Given the description of an element on the screen output the (x, y) to click on. 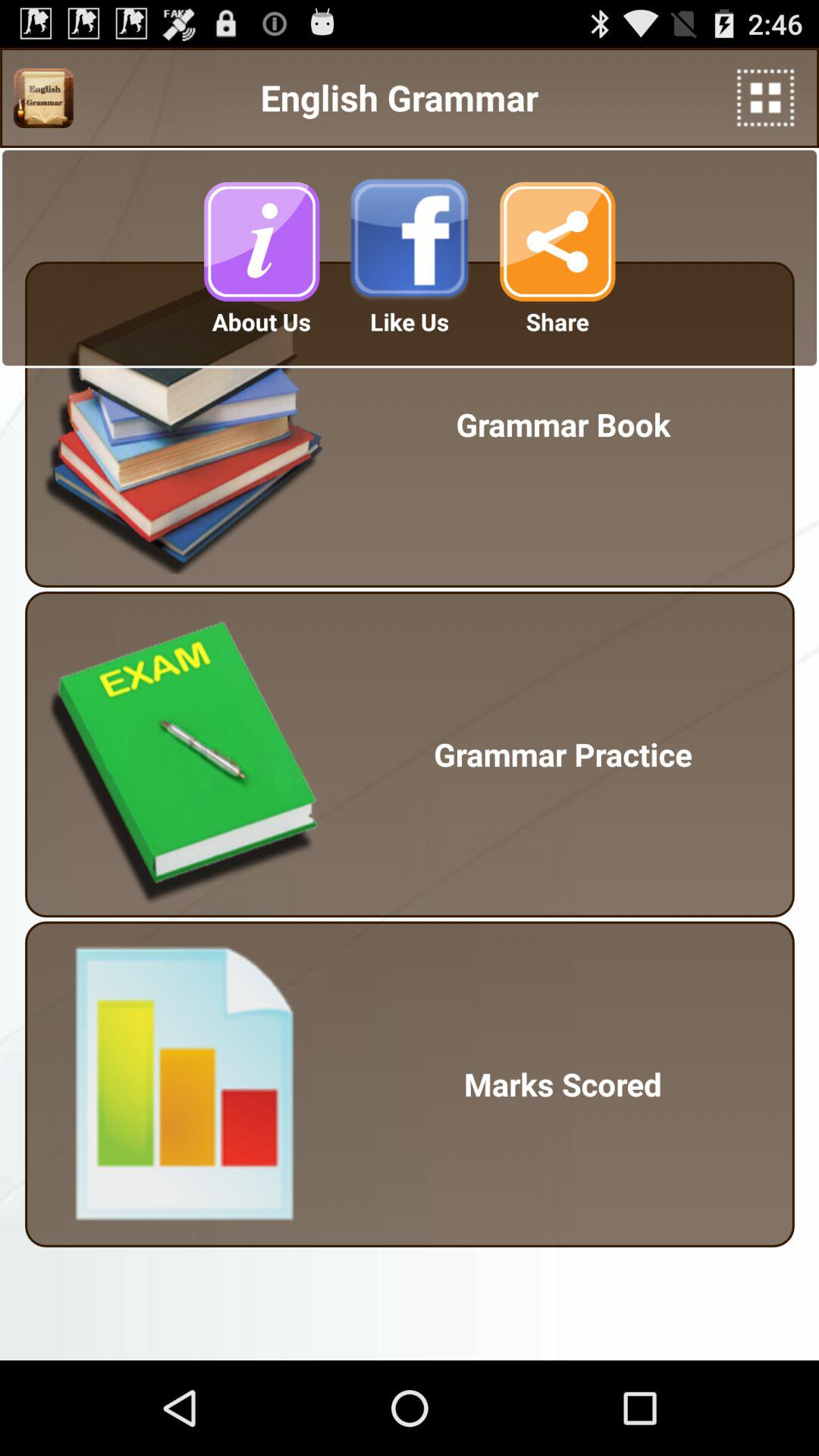
click about us option (261, 241)
